Given the description of an element on the screen output the (x, y) to click on. 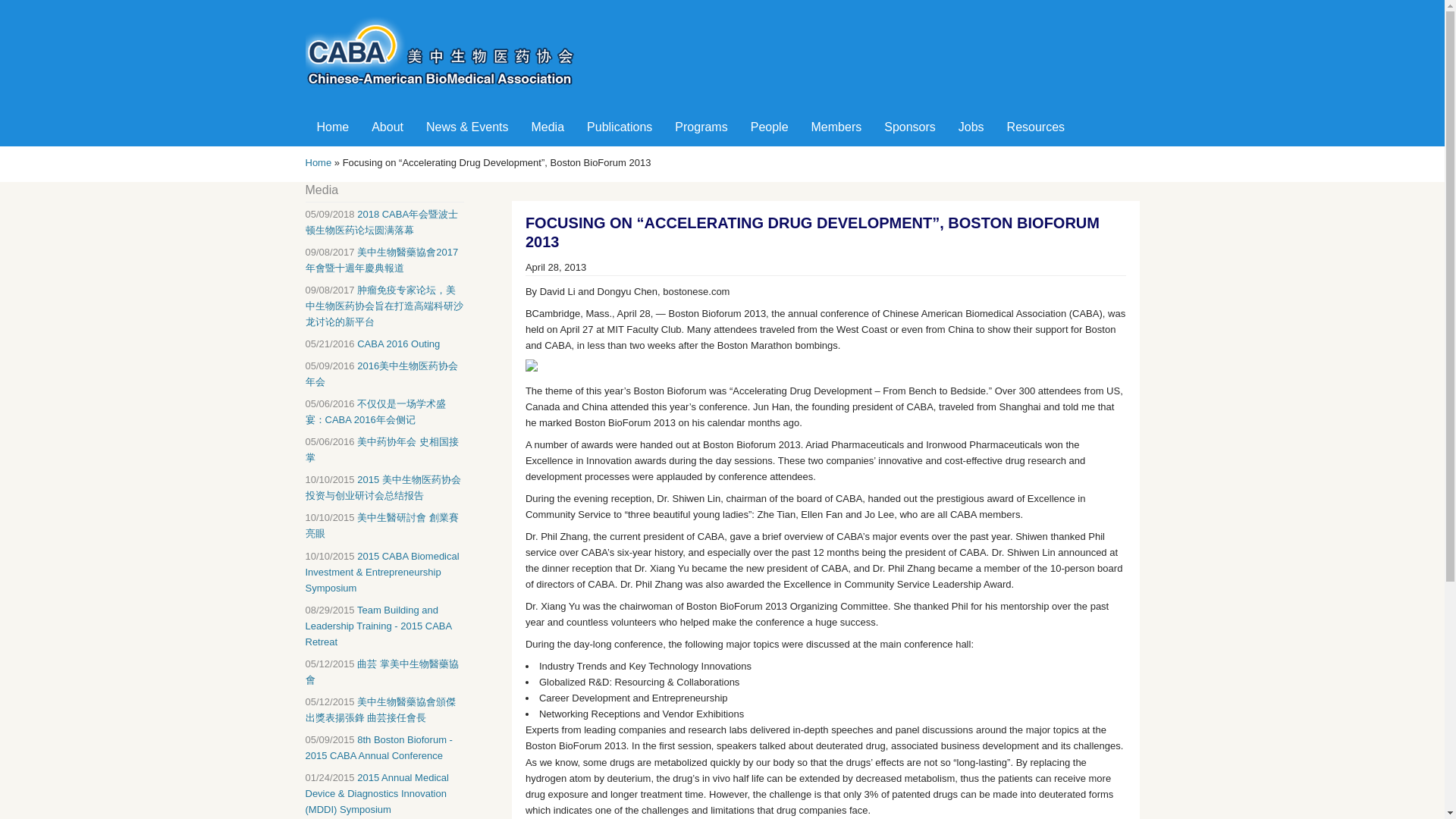
Sponsors (909, 126)
About (386, 126)
Resources (1035, 126)
Media (547, 126)
Publications (619, 126)
Jobs (971, 126)
Home (447, 91)
People (769, 126)
Members (836, 126)
Programs (700, 126)
Home (331, 126)
